Given the description of an element on the screen output the (x, y) to click on. 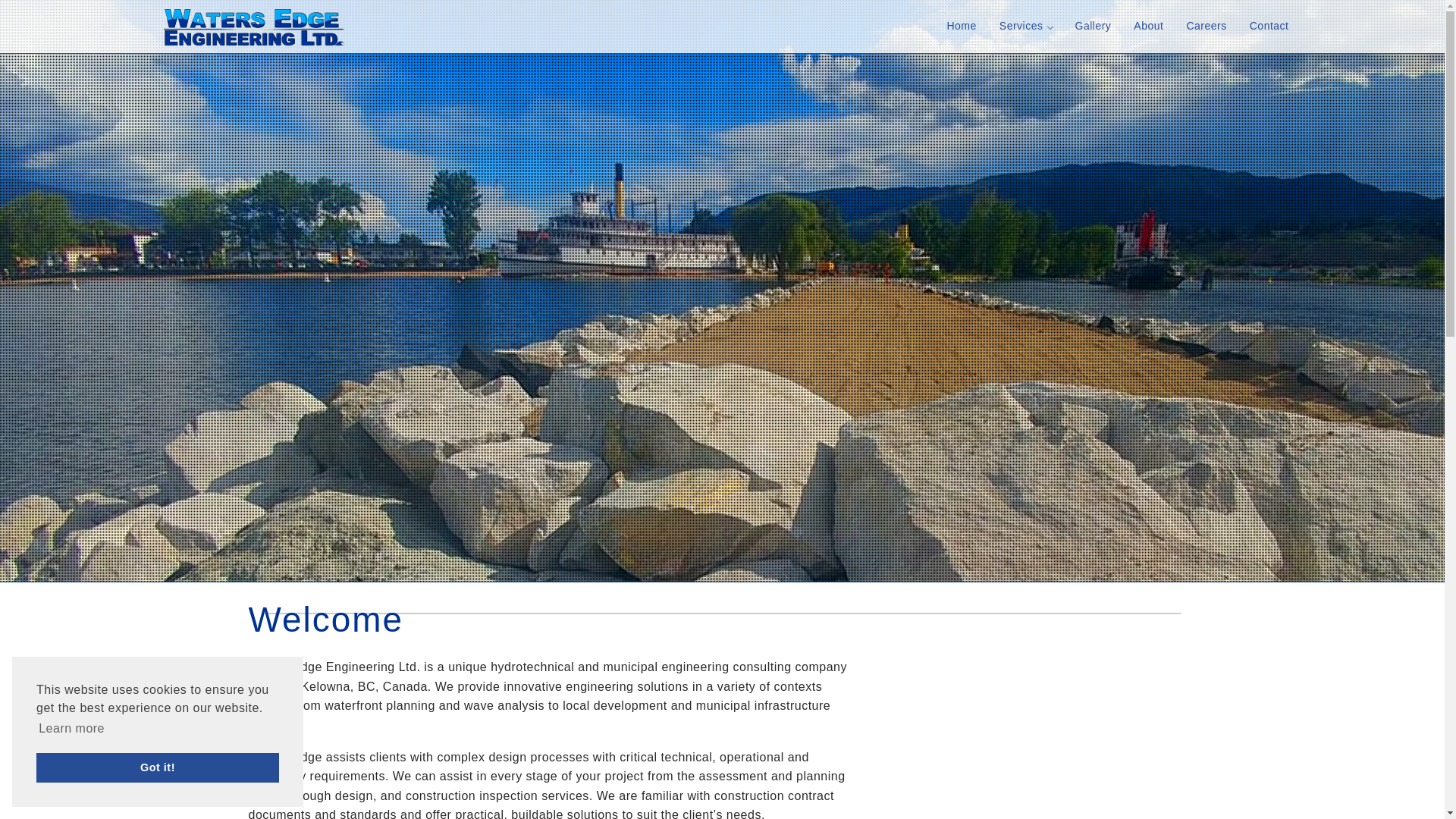
Home (960, 26)
Contact (1269, 26)
About (1148, 26)
Waters Edge Ltd logo (253, 27)
Careers (1205, 26)
Learn more (71, 728)
Services (1026, 26)
Got it! (157, 767)
Gallery (1092, 26)
